Given the description of an element on the screen output the (x, y) to click on. 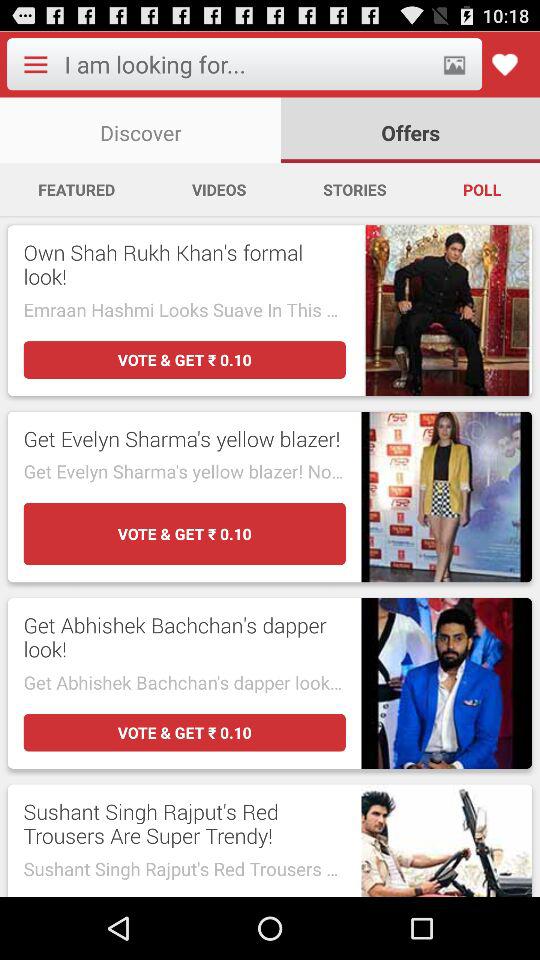
input image in search bar (453, 63)
